Given the description of an element on the screen output the (x, y) to click on. 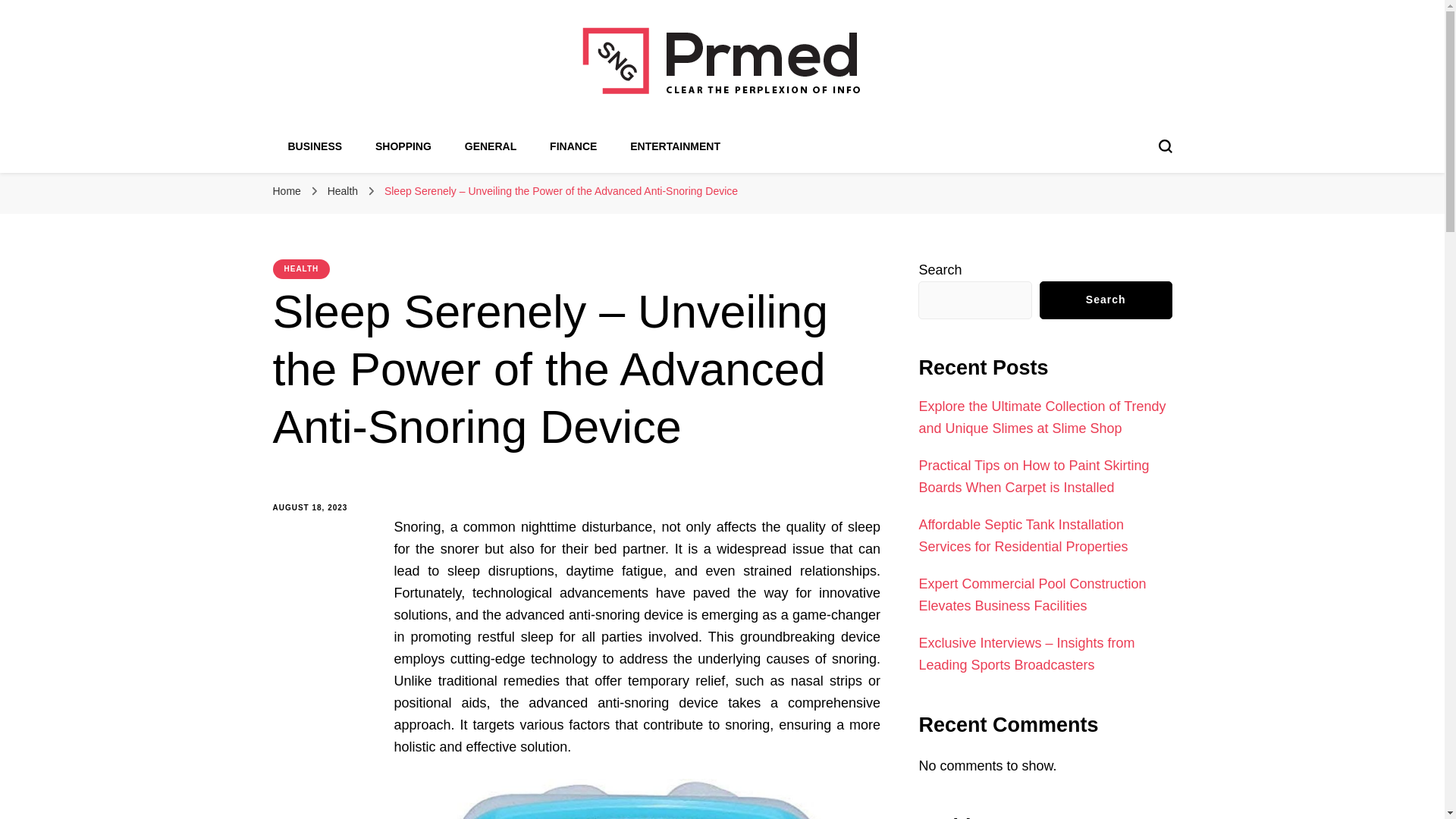
AUGUST 18, 2023 (322, 508)
Home (287, 191)
Search (1105, 300)
ENTERTAINMENT (675, 146)
BUSINESS (315, 146)
SHOPPING (402, 146)
Sng Prmed (381, 126)
Health (344, 191)
HEALTH (301, 269)
GENERAL (490, 146)
FINANCE (573, 146)
